Given the description of an element on the screen output the (x, y) to click on. 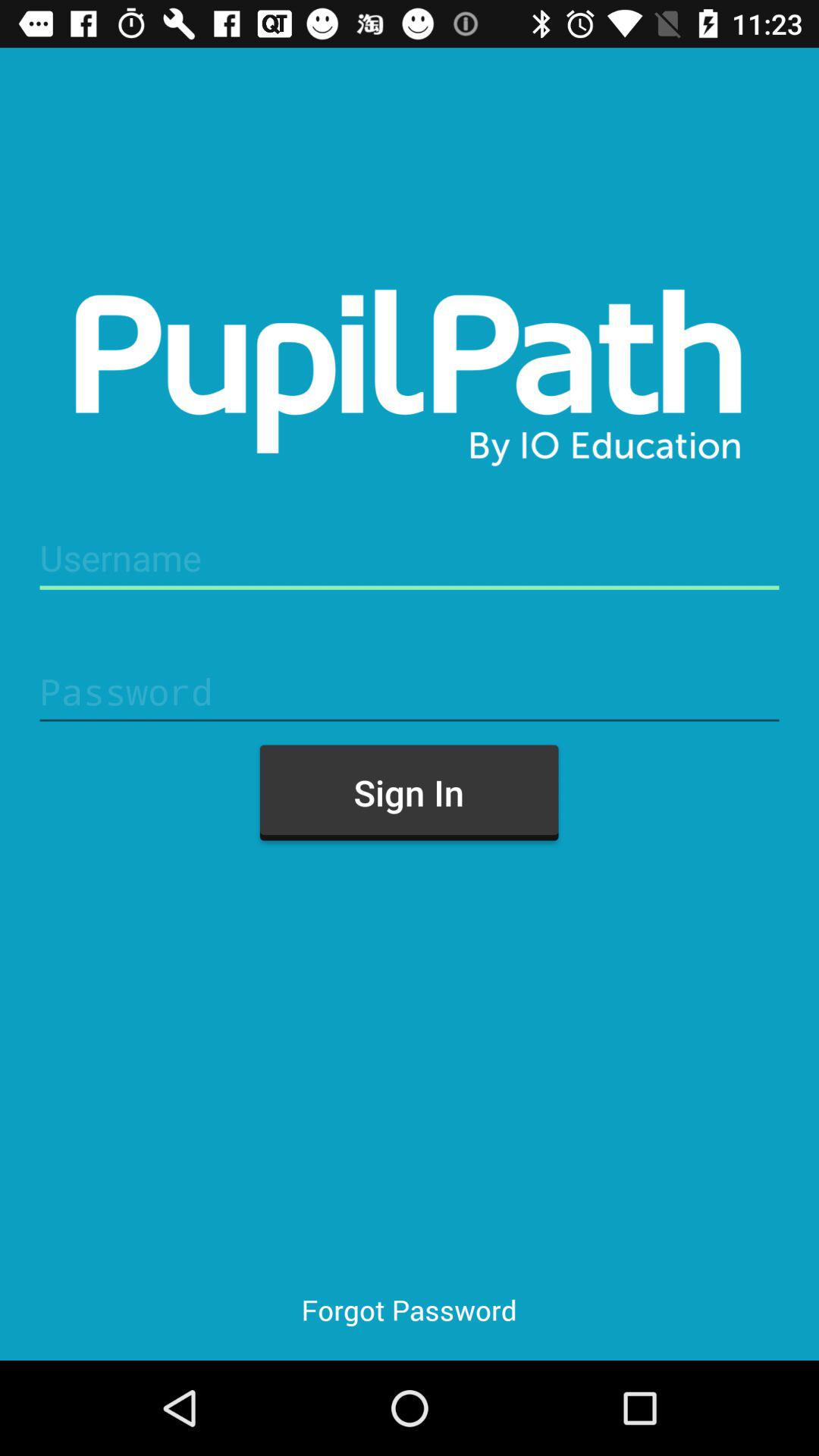
flip until forgot password (408, 1309)
